Given the description of an element on the screen output the (x, y) to click on. 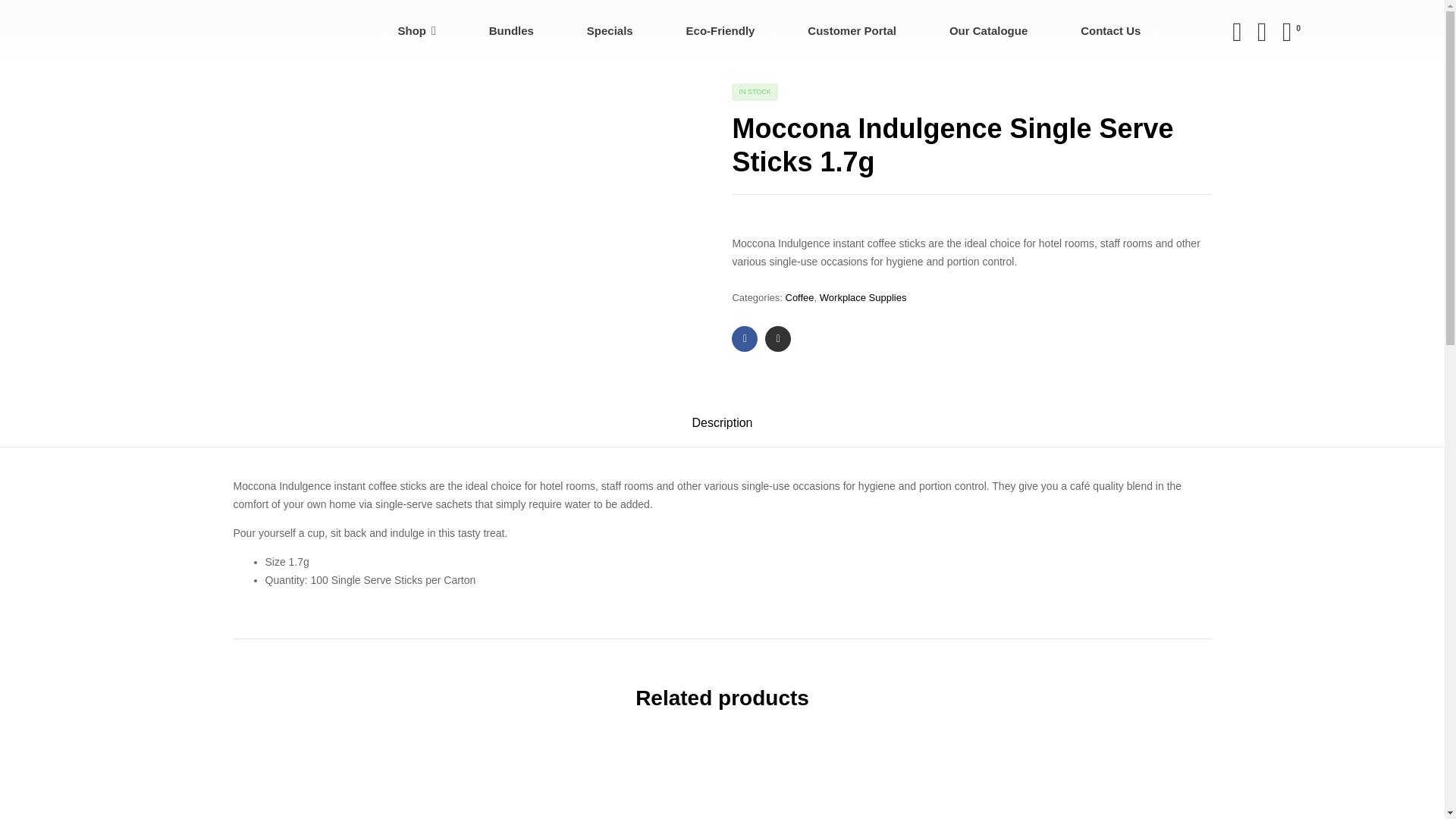
Shop (416, 32)
Share on facebook (744, 338)
Email to a Friend (777, 338)
